Given the description of an element on the screen output the (x, y) to click on. 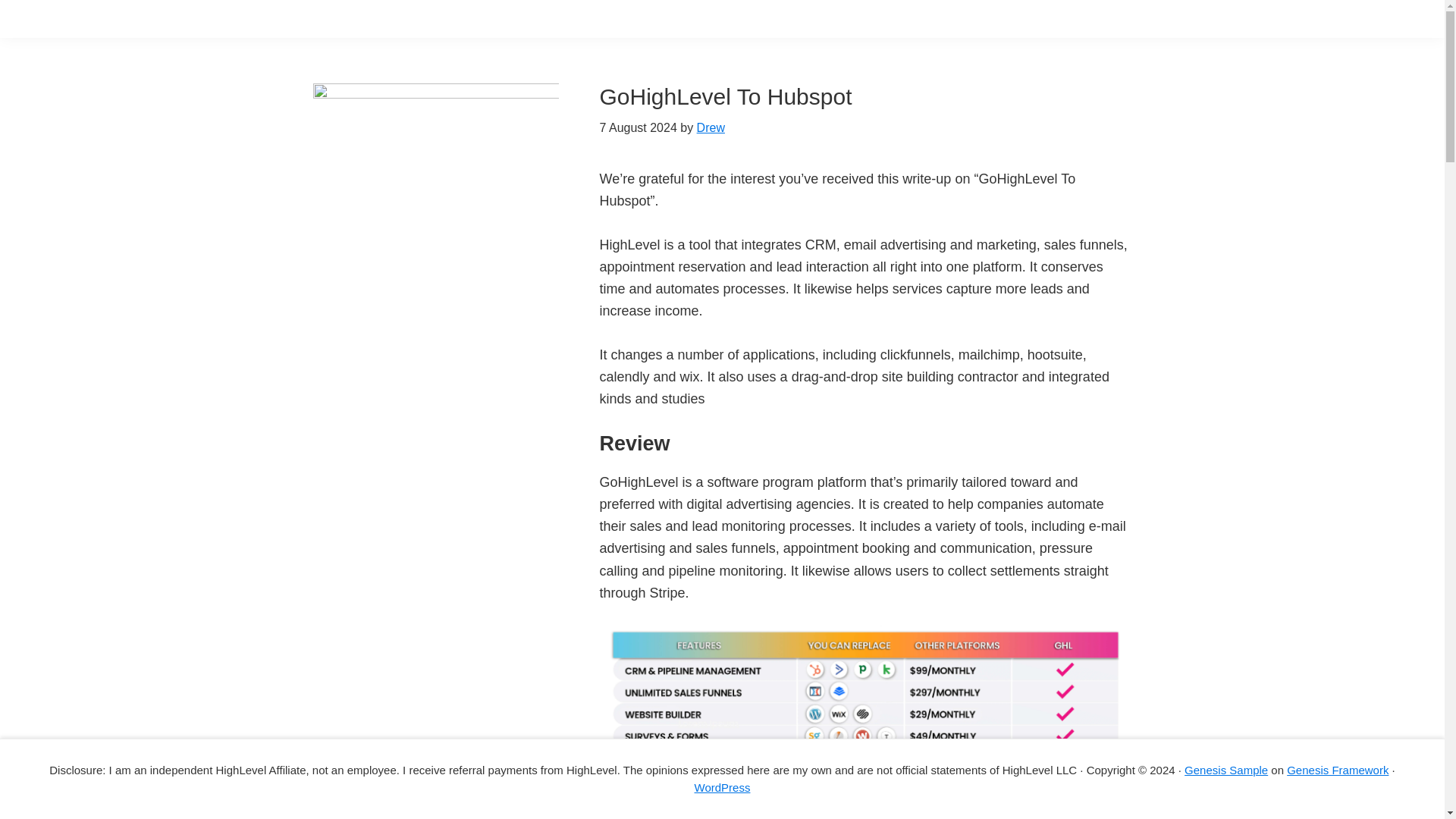
Genesis Sample (1226, 769)
Drew (711, 127)
Genesis Framework (1338, 769)
WordPress (722, 787)
